Given the description of an element on the screen output the (x, y) to click on. 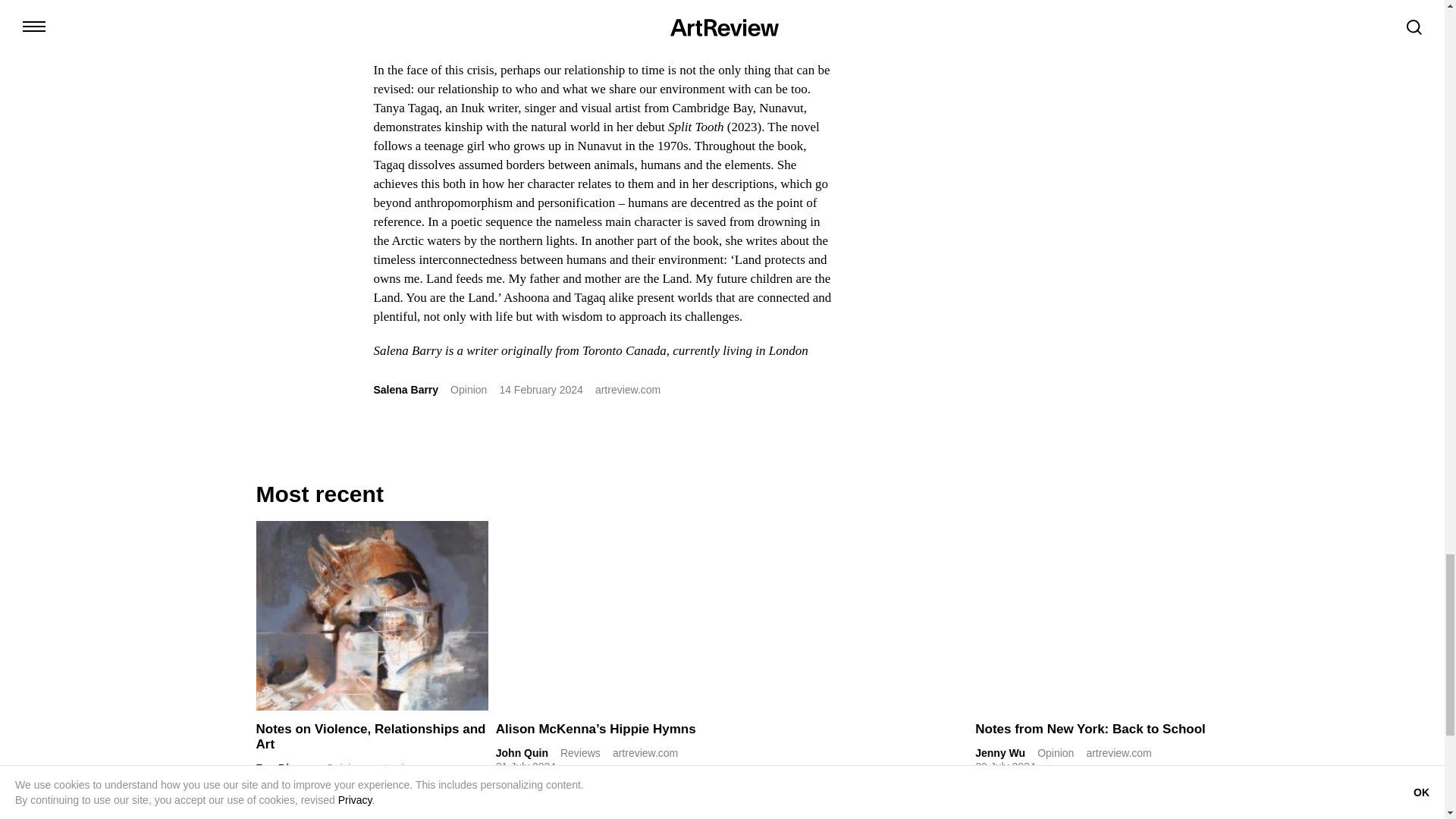
Salena Barry (405, 389)
Opinion (467, 389)
